Given the description of an element on the screen output the (x, y) to click on. 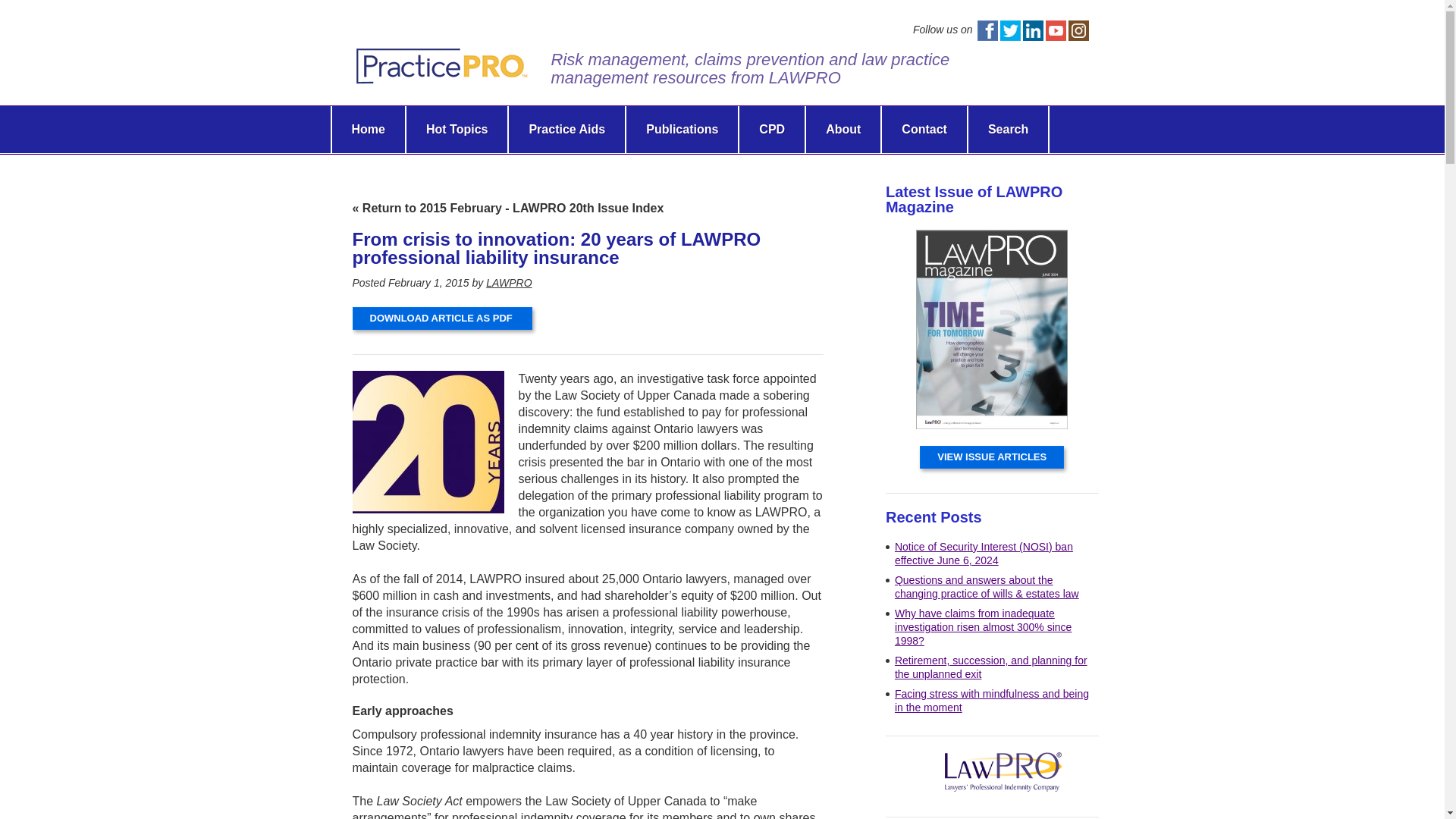
Publications (682, 129)
Facebook (986, 30)
CPD (772, 129)
Hot Topics (456, 129)
instagram (1077, 30)
Linkedin (1032, 30)
You Tube (1055, 30)
Home (367, 129)
Practice Aids (566, 129)
Twitter (1009, 30)
